Given the description of an element on the screen output the (x, y) to click on. 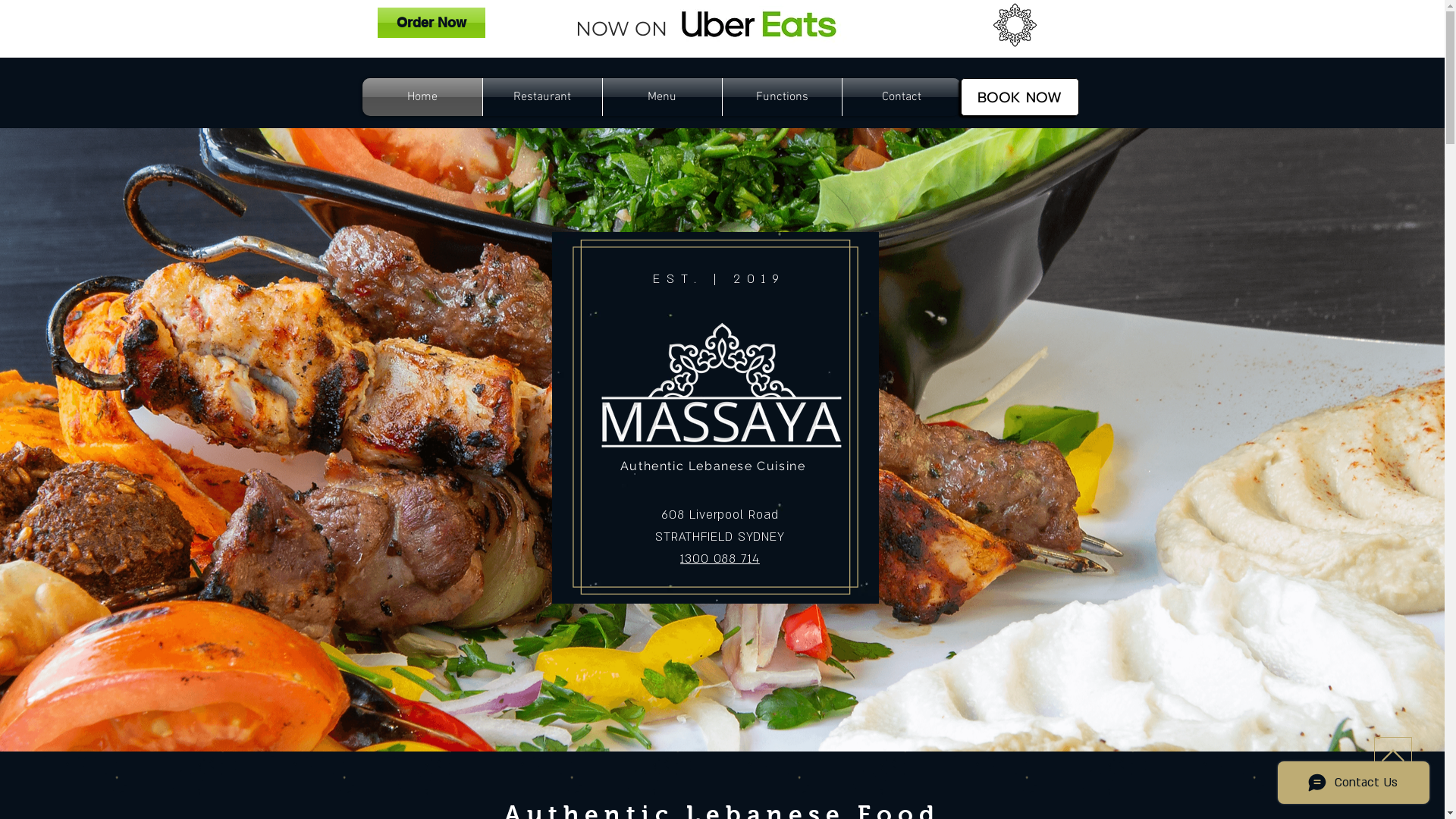
Menu Element type: text (661, 97)
NOW ON Element type: text (620, 28)
Contact Element type: text (900, 97)
Order Now Element type: text (431, 22)
1300 088 714 Element type: text (719, 558)
Restaurant Element type: text (541, 97)
BOOK NOW Element type: text (1019, 97)
Home Element type: text (422, 97)
Functions Element type: text (780, 97)
